Given the description of an element on the screen output the (x, y) to click on. 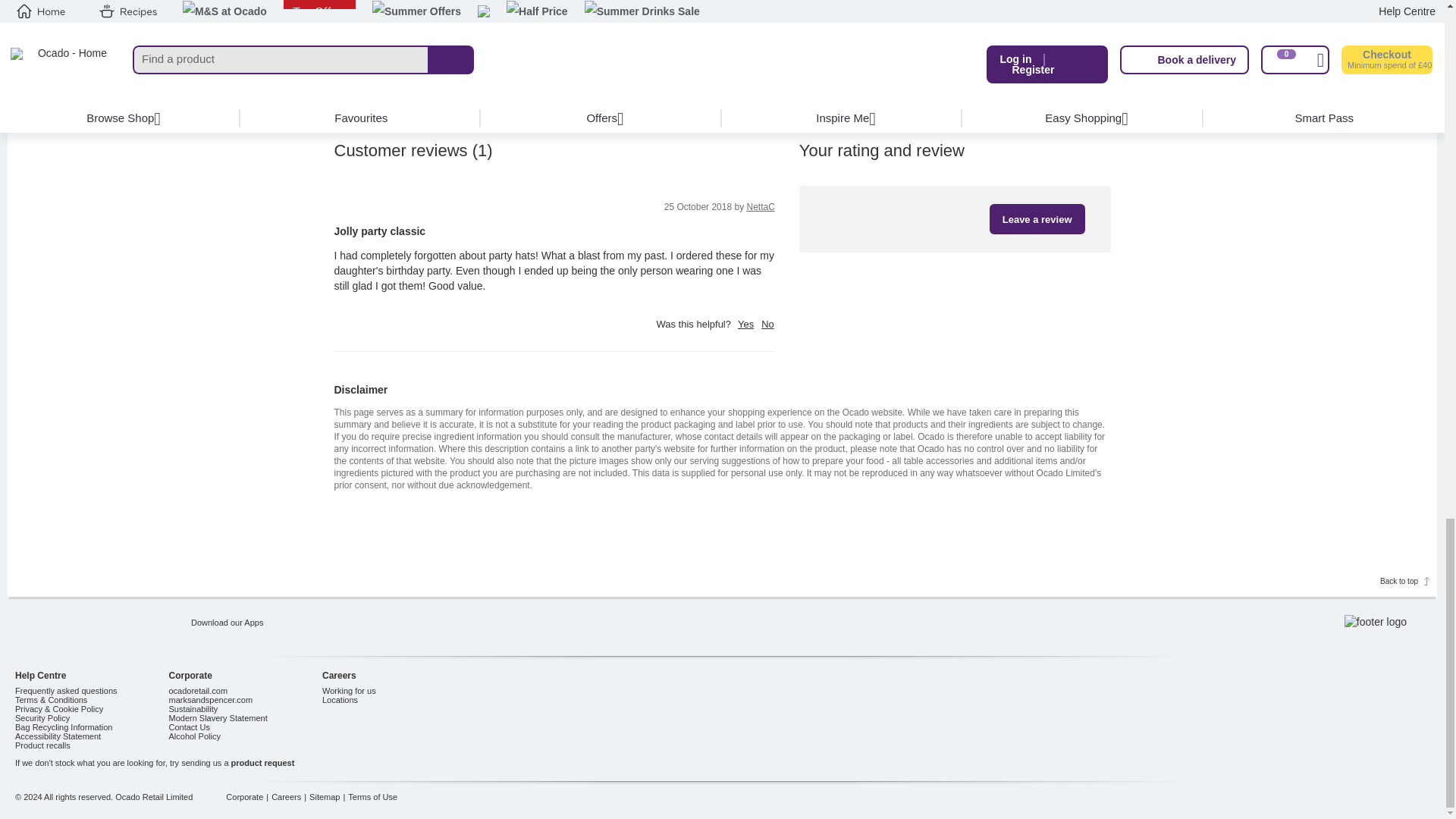
Reviews 5.0 of 5 (669, 4)
2 star reviews (569, 64)
1 star reviews (576, 84)
4 star reviews (556, 25)
5 star reviews (550, 6)
3 star reviews (563, 45)
